Given the description of an element on the screen output the (x, y) to click on. 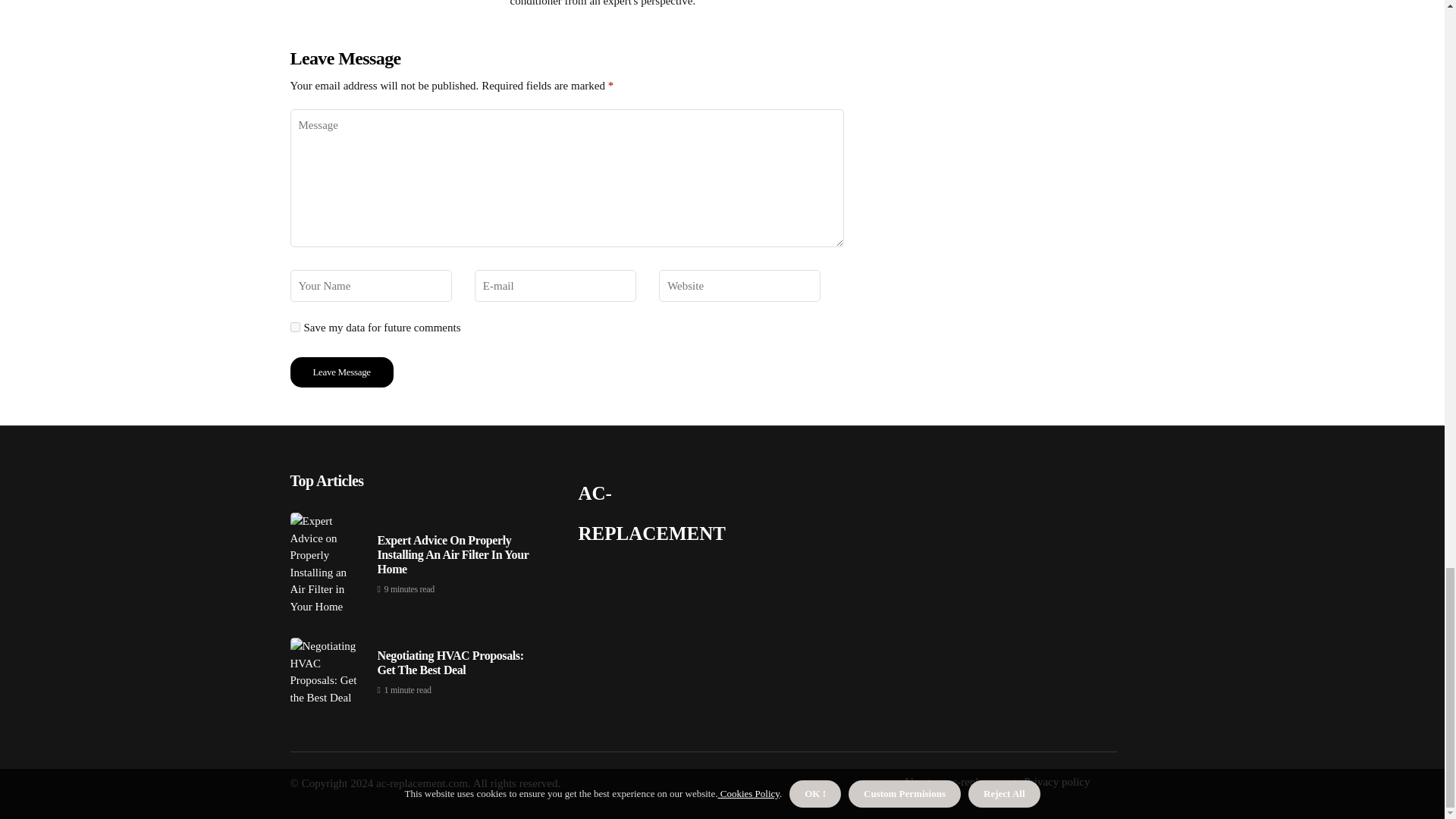
yes (294, 327)
Leave Message (341, 372)
Leave Message (341, 372)
